Given the description of an element on the screen output the (x, y) to click on. 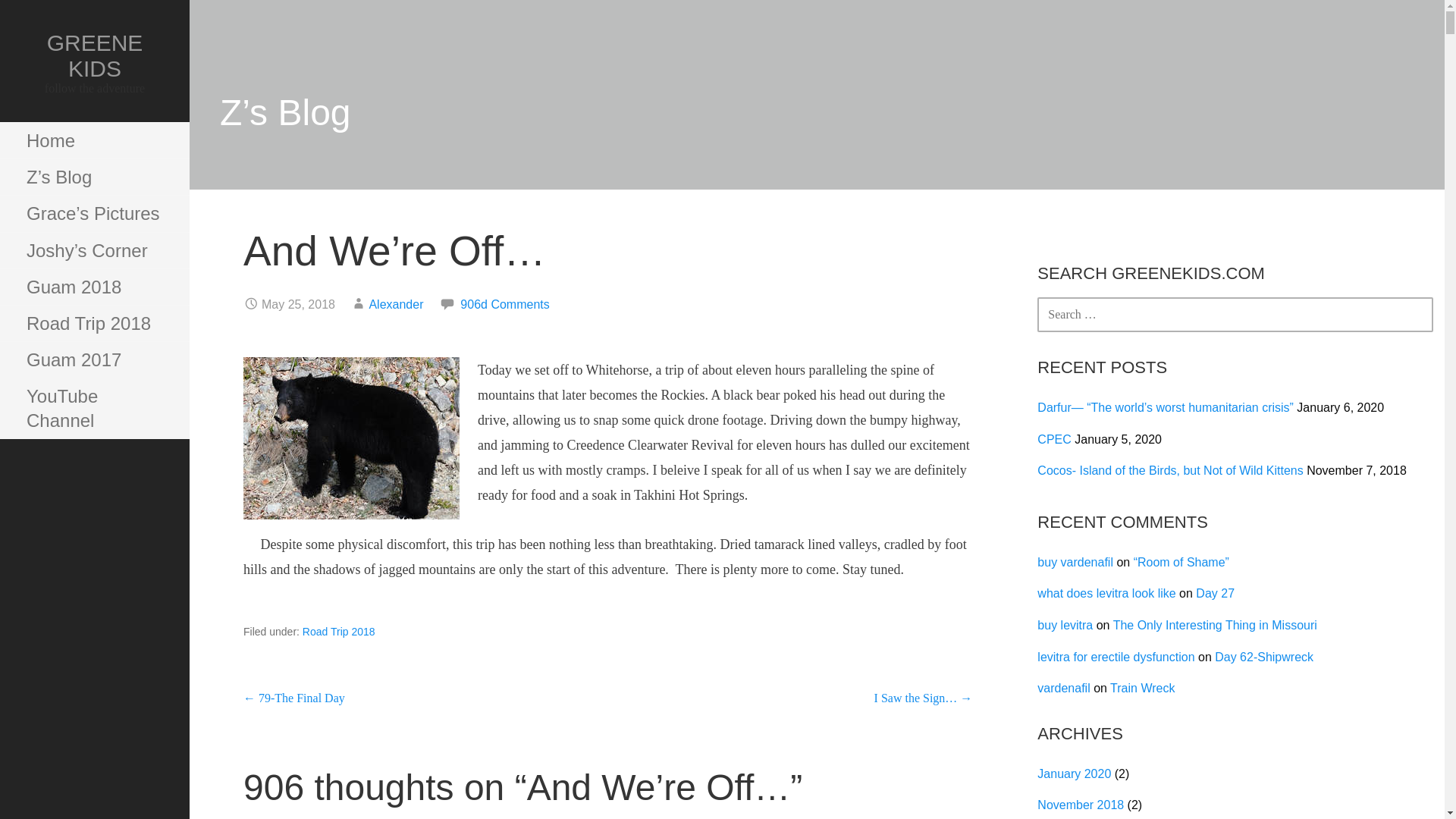
Posts by Alexander (395, 304)
Road Trip 2018 (94, 323)
Alexander (395, 304)
Guam 2017 (94, 360)
Blog (94, 176)
Guam 2018 (94, 287)
YouTube Channel (94, 408)
GREENE KIDS (94, 55)
906d Comments (504, 304)
